Given the description of an element on the screen output the (x, y) to click on. 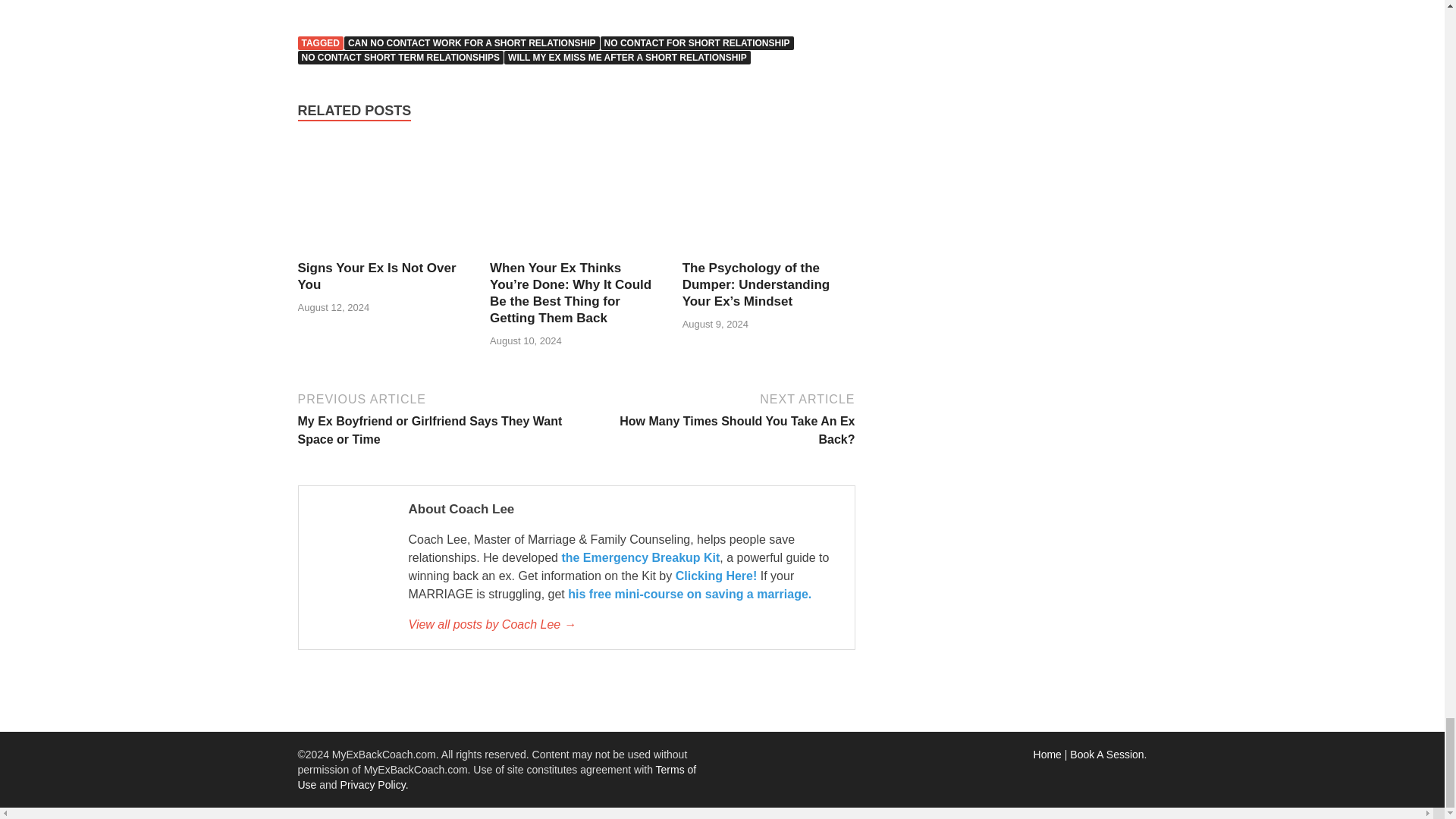
Signs Your Ex Is Not Over You (383, 250)
Ex Back Coaching (1106, 754)
Coach Lee (622, 624)
My Ex Back Coach (1047, 754)
Signs Your Ex Is Not Over You (376, 276)
